Given the description of an element on the screen output the (x, y) to click on. 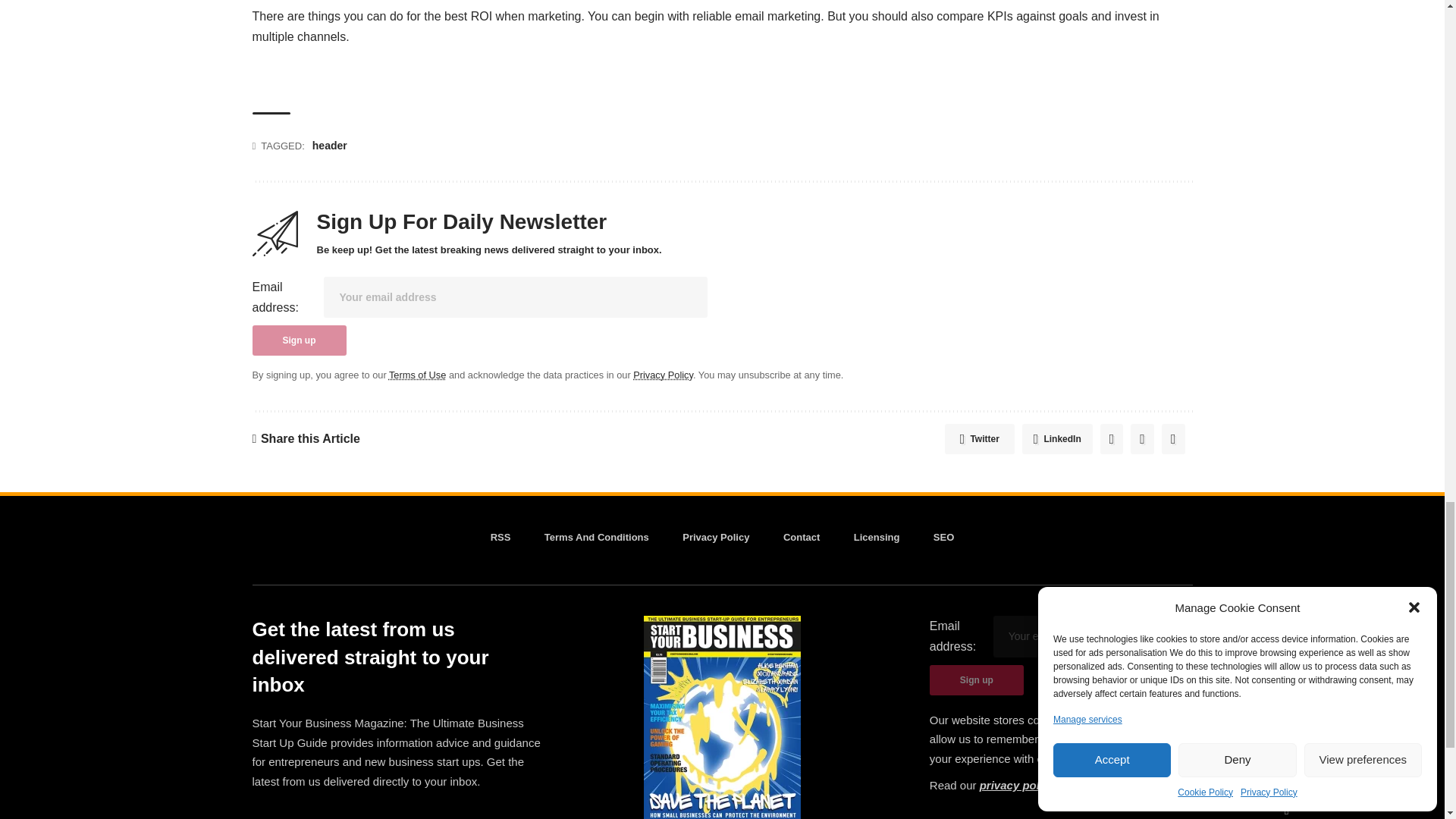
Sign up (298, 340)
Sign up (976, 680)
